Given the description of an element on the screen output the (x, y) to click on. 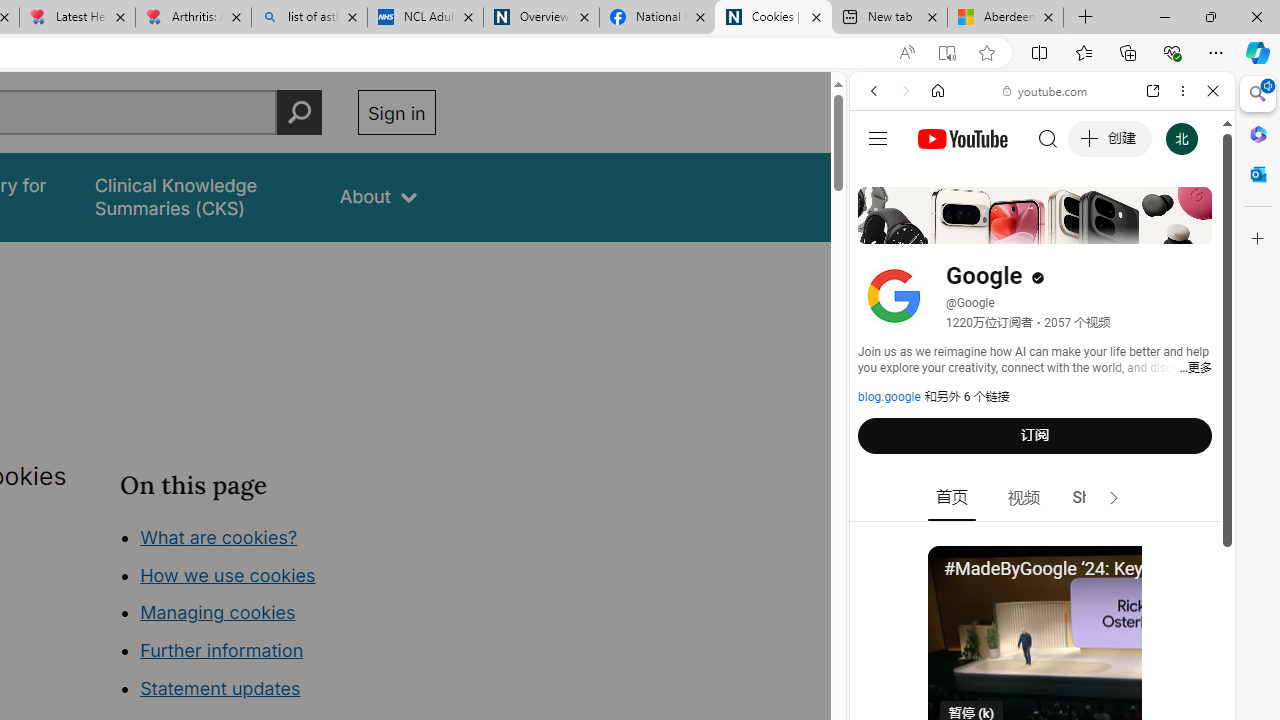
Class: in-page-nav__list (277, 615)
false (198, 196)
Managing cookies (217, 612)
